Given the description of an element on the screen output the (x, y) to click on. 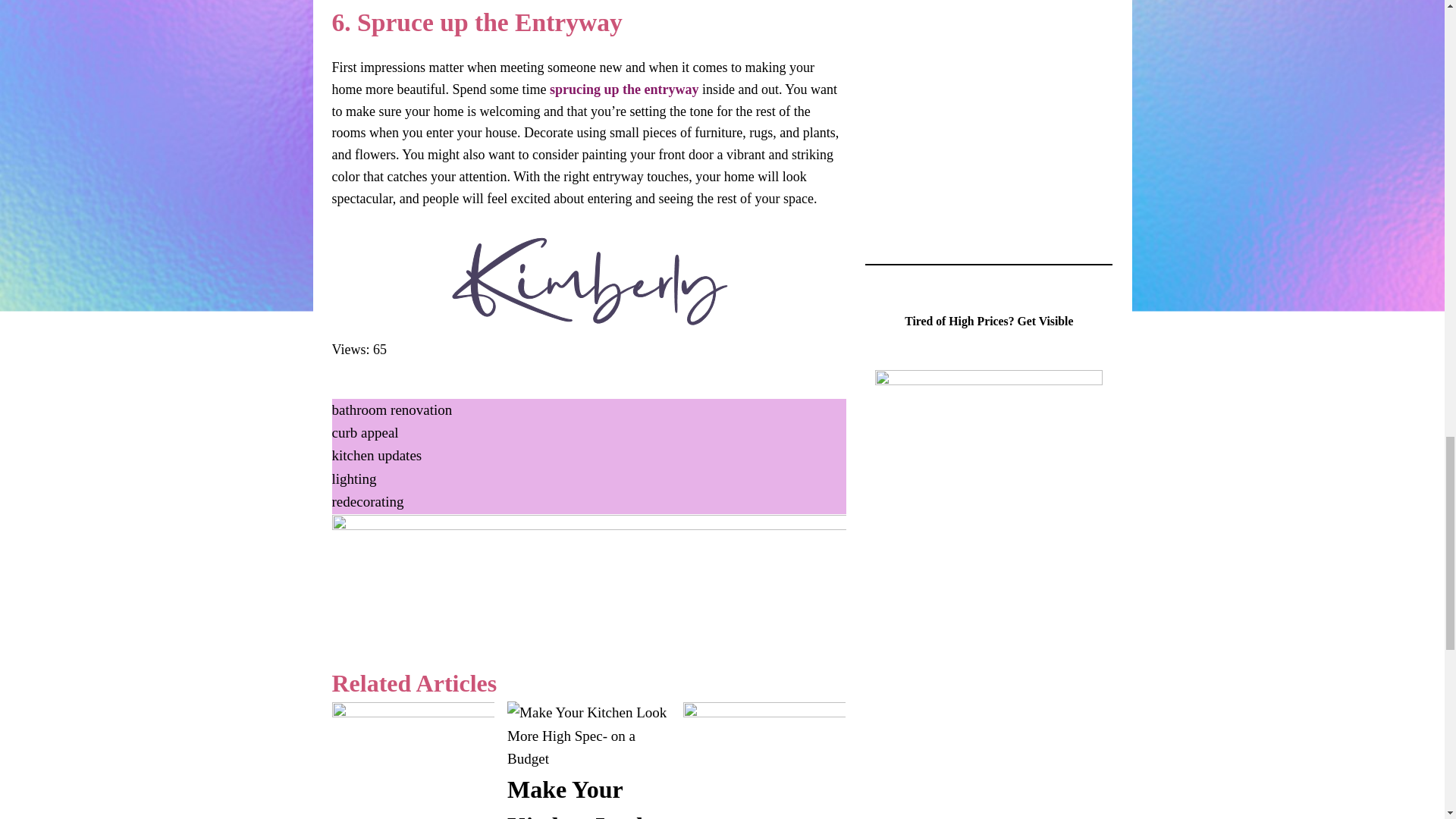
When Renovations Are a Waste of Time (763, 811)
redecorating (367, 501)
bathroom renovation (391, 409)
lighting (354, 478)
sprucing up the entryway (622, 89)
Doing a Bathroom Renovation on a Budget (413, 811)
curb appeal (364, 432)
kitchen updates (376, 455)
